Given the description of an element on the screen output the (x, y) to click on. 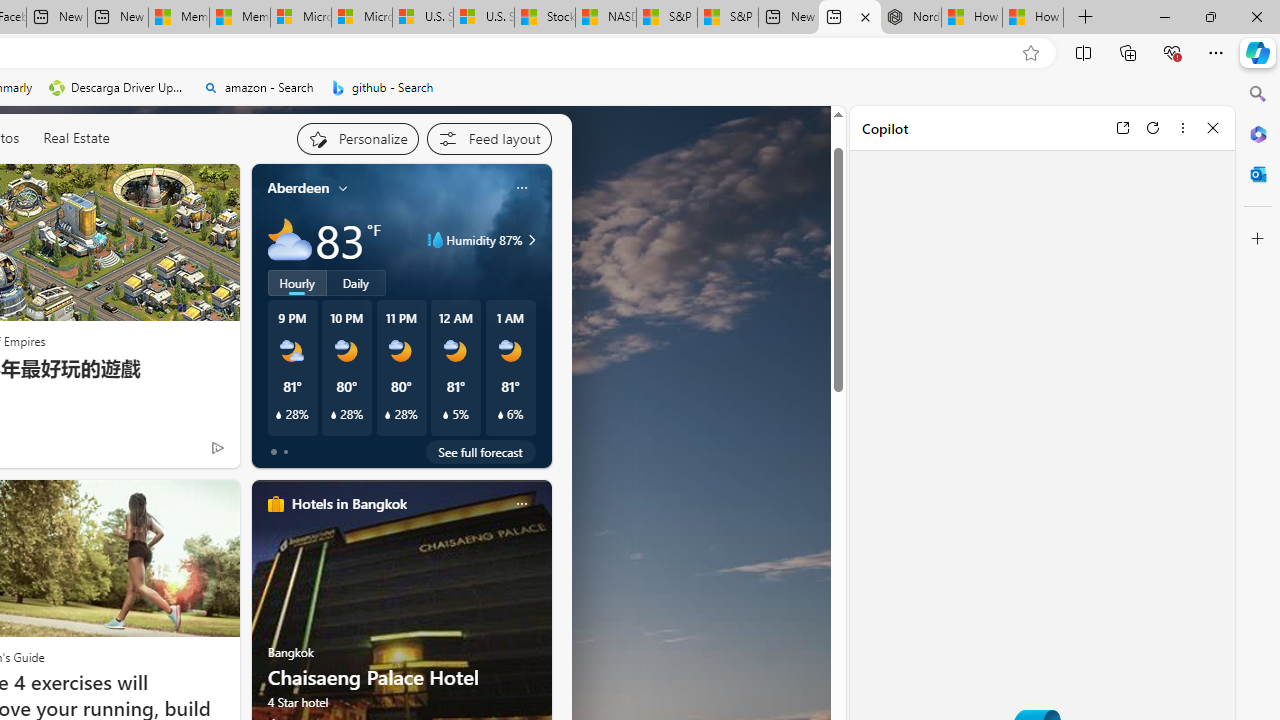
amazon - Search (258, 88)
Customize (1258, 239)
Class: weather-arrow-glyph (531, 240)
Personalize your feed" (356, 138)
Nordace - Summer Adventures 2024 (910, 17)
tab-0 (273, 451)
How to Use a Monitor With Your Closed Laptop (1033, 17)
Real Estate (75, 138)
Descarga Driver Updater (118, 88)
hotels-header-icon (275, 503)
